Given the description of an element on the screen output the (x, y) to click on. 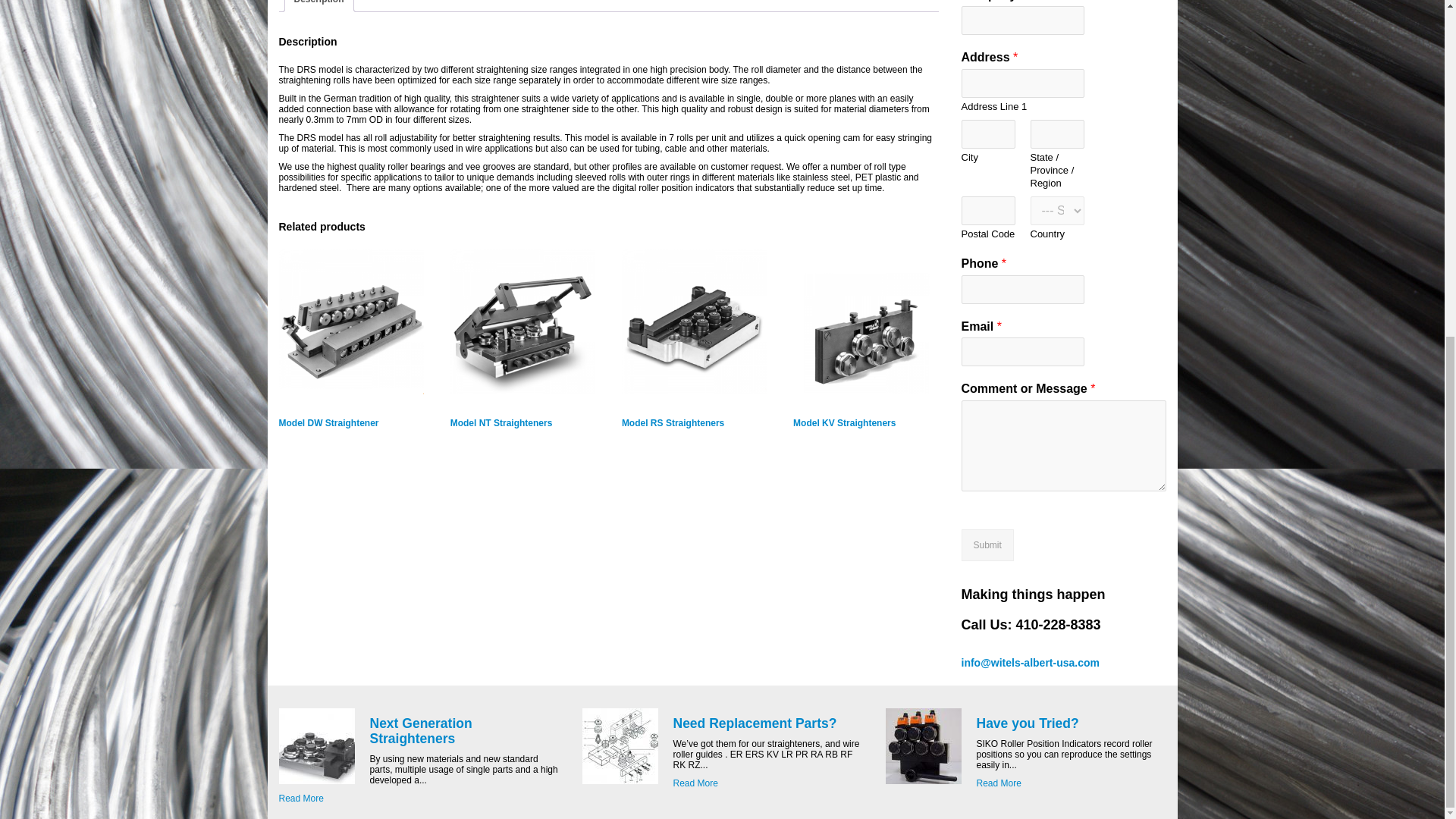
Next Generation Straighteners (420, 730)
Read More (694, 783)
Have you Tried? (1027, 723)
Submit (986, 545)
Description (318, 5)
Read More (301, 798)
Need Replacement Parts? (754, 723)
Read More (999, 783)
